Given the description of an element on the screen output the (x, y) to click on. 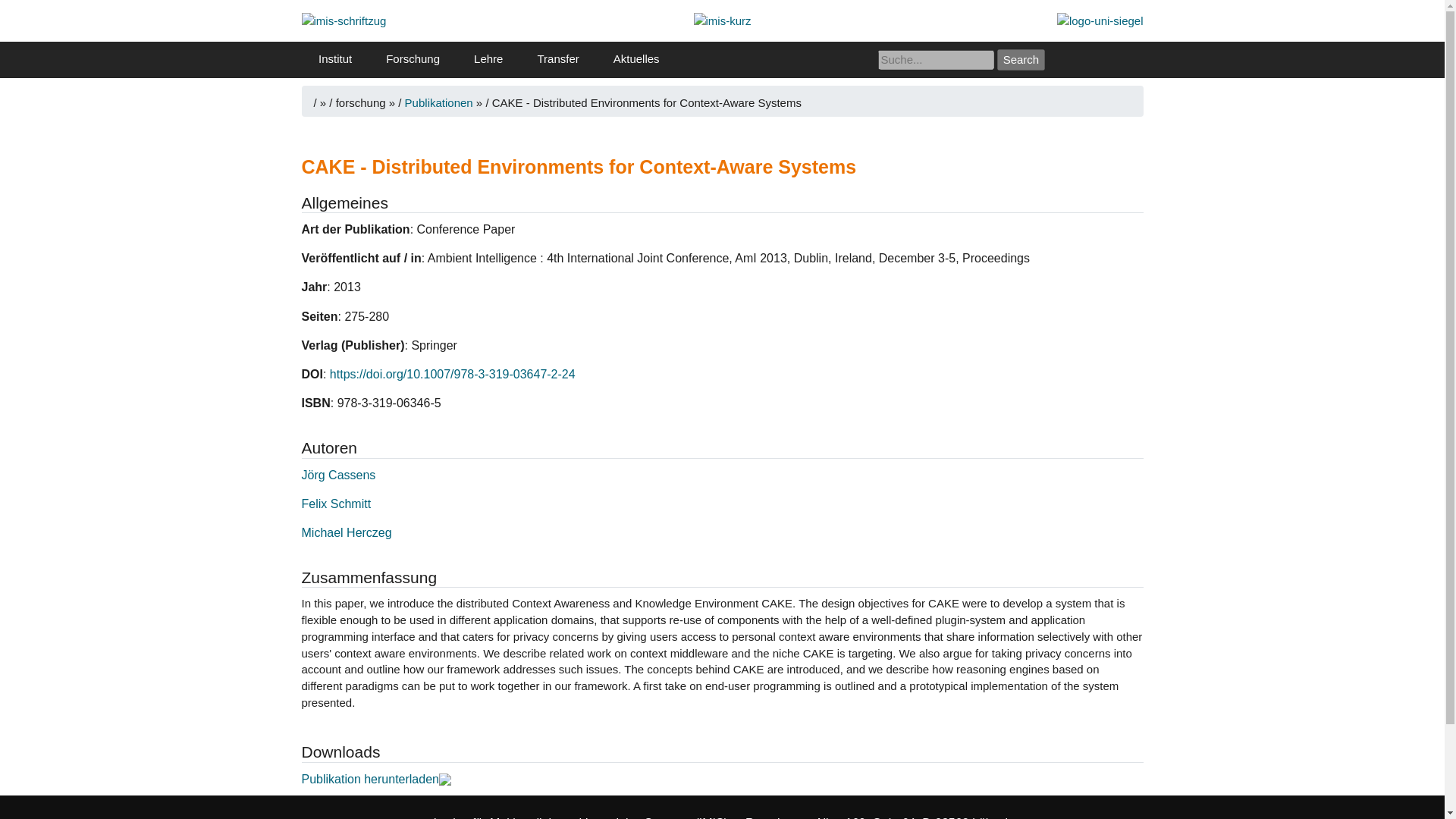
Felix Schmitt (336, 503)
Die Begriffe eingeben, nach denen gesucht werden soll. (935, 59)
Search (1021, 59)
Search (1021, 59)
Michael Herczeg (346, 532)
Search (1021, 59)
Publikation herunterladen (376, 779)
Publikationen (440, 102)
